Given the description of an element on the screen output the (x, y) to click on. 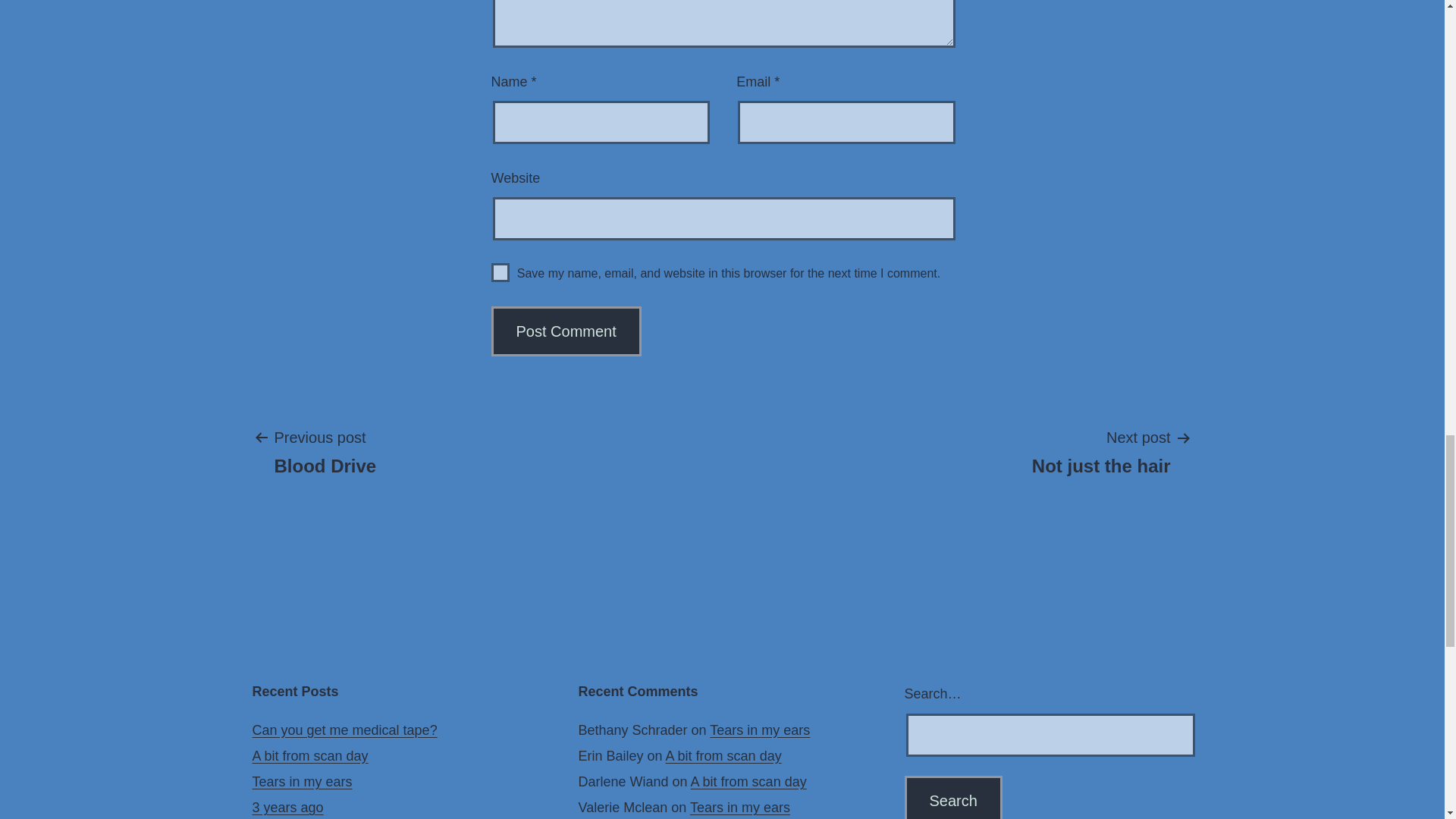
Search (952, 797)
Tears in my ears (324, 451)
A bit from scan day (759, 729)
Tears in my ears (748, 781)
yes (301, 781)
Search (500, 271)
Can you get me medical tape? (952, 797)
Post Comment (343, 729)
Post Comment (567, 331)
Search (567, 331)
3 years ago (952, 797)
A bit from scan day (287, 807)
A bit from scan day (309, 755)
